Given the description of an element on the screen output the (x, y) to click on. 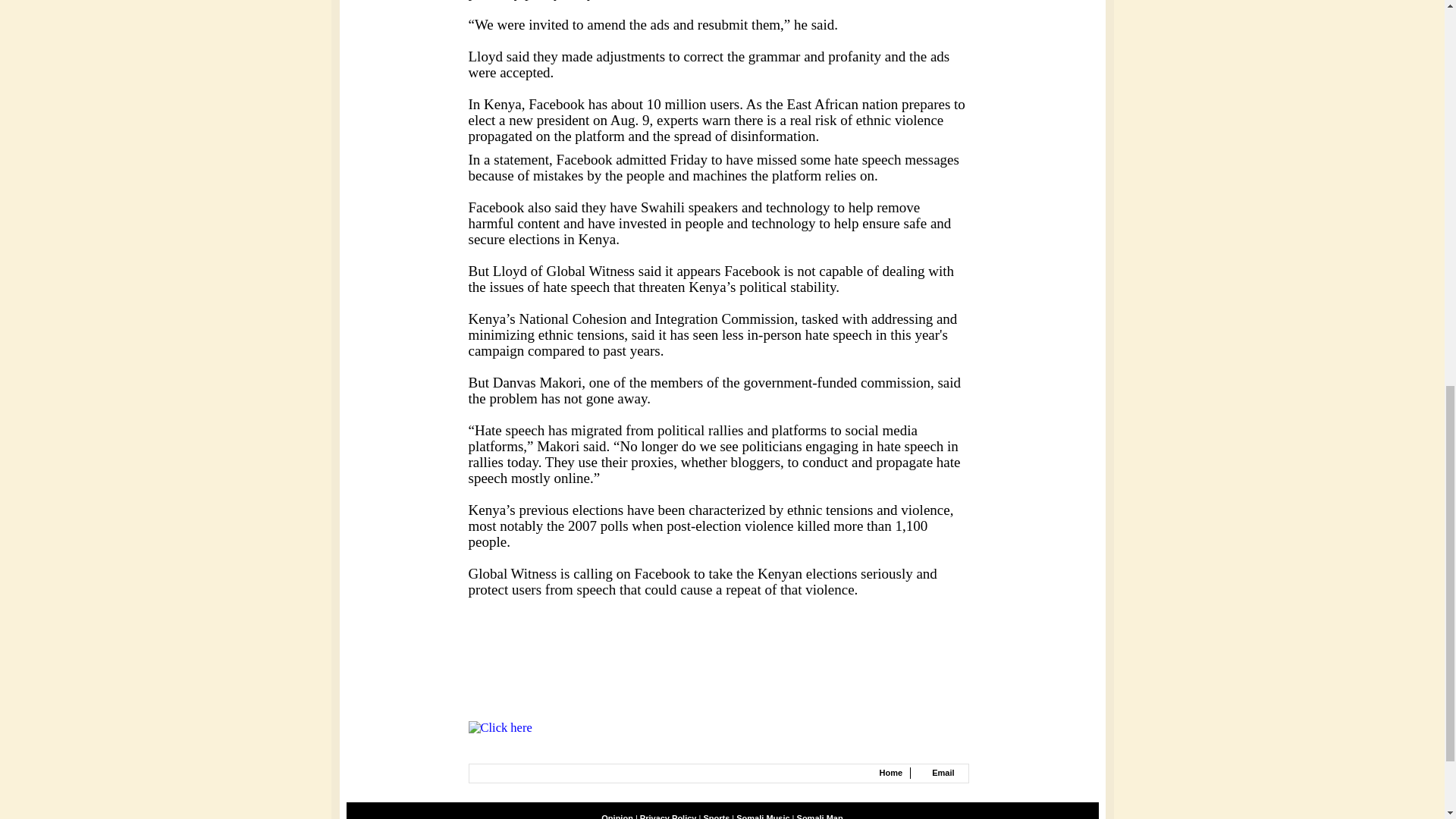
Sports (716, 816)
Somali Music (762, 816)
Somali Map (819, 816)
Privacy Policy (668, 816)
Opinion (617, 816)
Email (942, 772)
Home (890, 772)
